Given the description of an element on the screen output the (x, y) to click on. 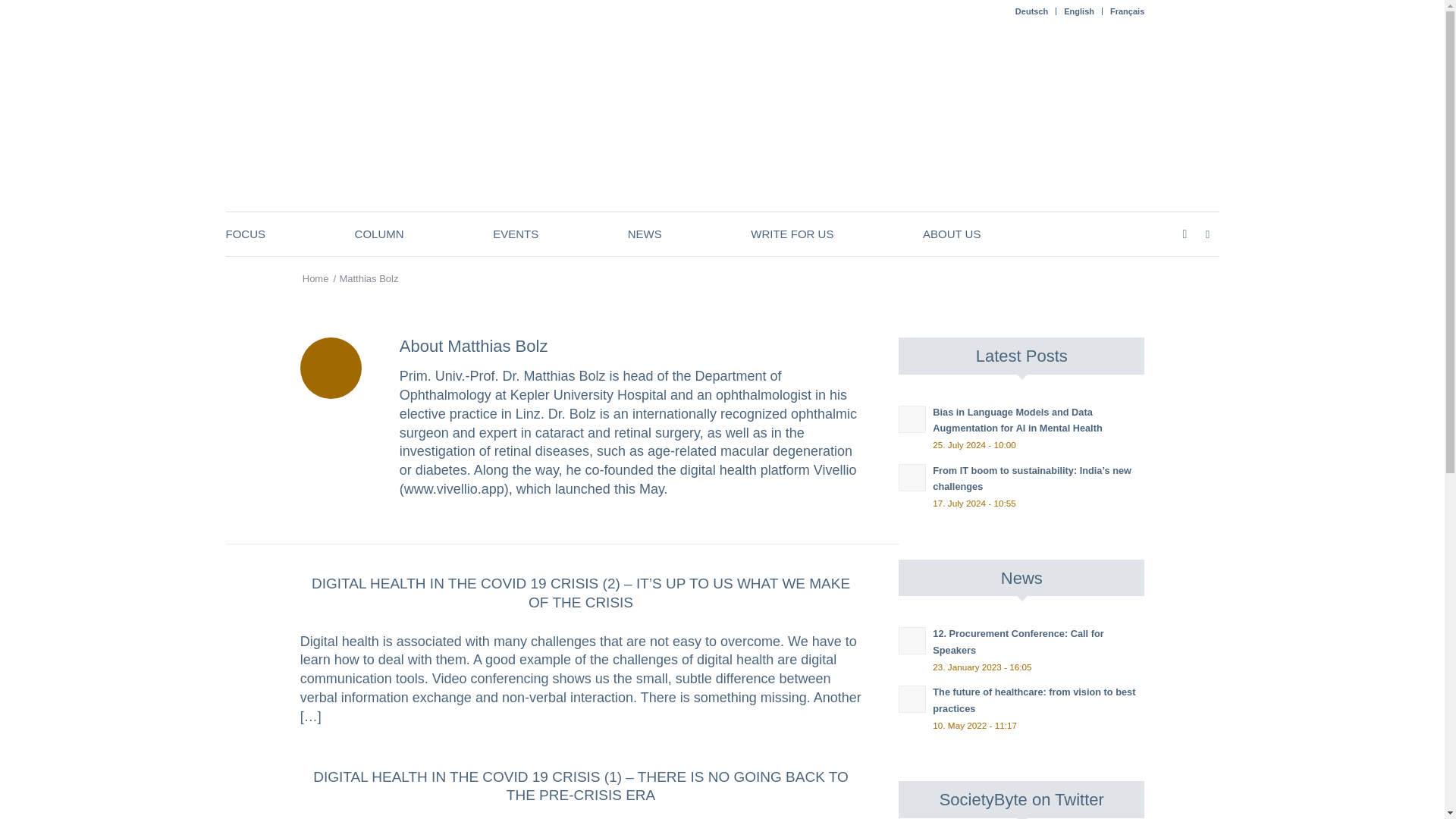
Home (315, 278)
FOCUS (245, 234)
Read: 12. Procurement Conference: Call for Speakers (912, 640)
COLUMN (379, 234)
WRITE FOR US (791, 234)
ABOUT US (951, 234)
EVENTS (515, 234)
SocietyByte (315, 278)
